Given the description of an element on the screen output the (x, y) to click on. 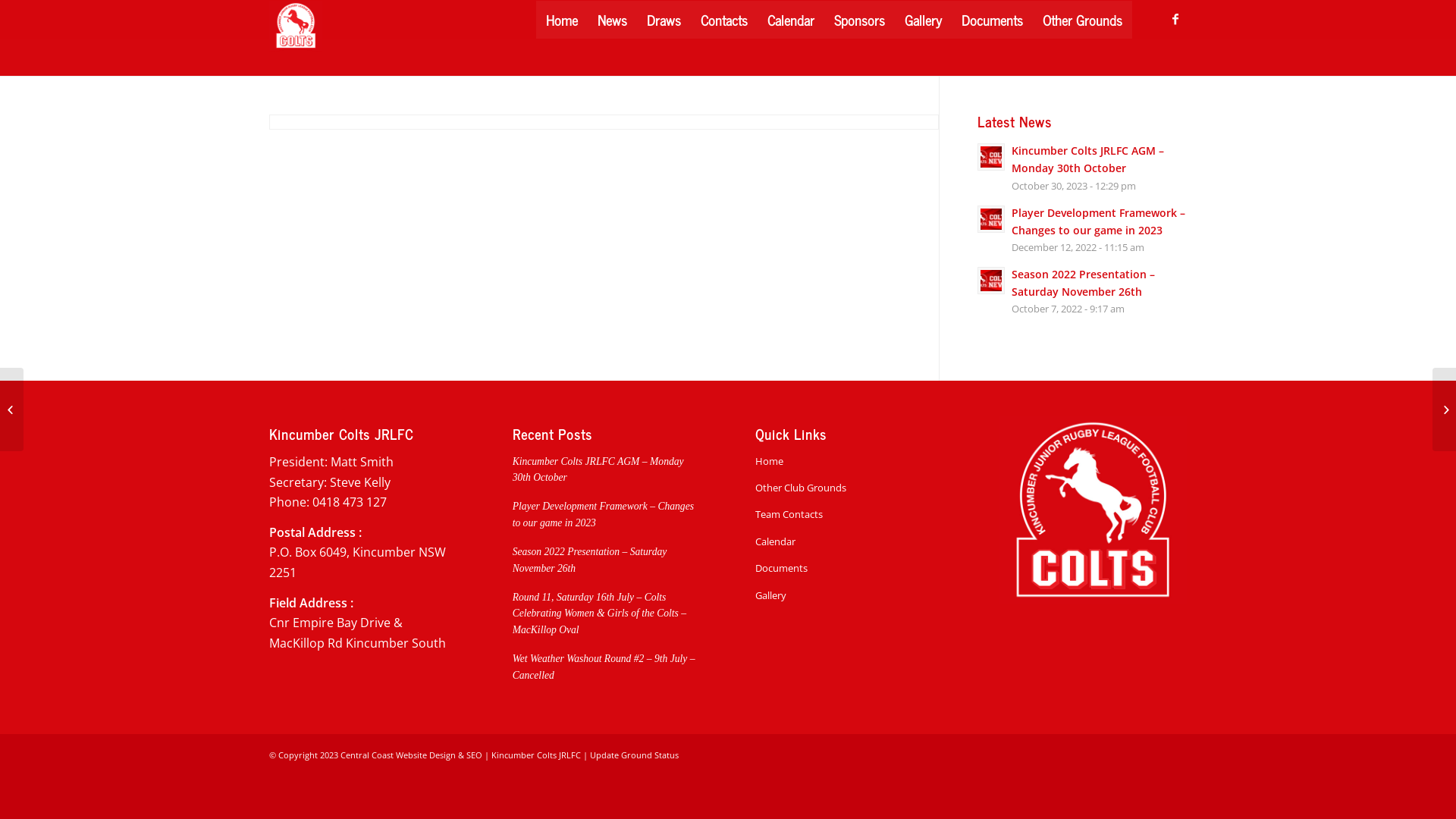
Calendar Element type: text (849, 541)
Sponsors Element type: text (859, 19)
Calendar Element type: text (790, 19)
Gallery Element type: text (849, 595)
Home Element type: text (849, 461)
News Element type: text (612, 19)
Other Club Grounds Element type: text (849, 487)
Facebook Element type: hover (1175, 18)
Update Ground Status Element type: text (633, 754)
0418 473 127 Element type: text (349, 501)
Central Coast Website Design & SEO Element type: text (411, 754)
Gallery Element type: text (922, 19)
Documents Element type: text (991, 19)
Draws Element type: text (663, 19)
Home Element type: text (561, 19)
Contacts Element type: text (723, 19)
Other Grounds Element type: text (1082, 19)
Documents Element type: text (849, 568)
Team Contacts Element type: text (849, 514)
